Given the description of an element on the screen output the (x, y) to click on. 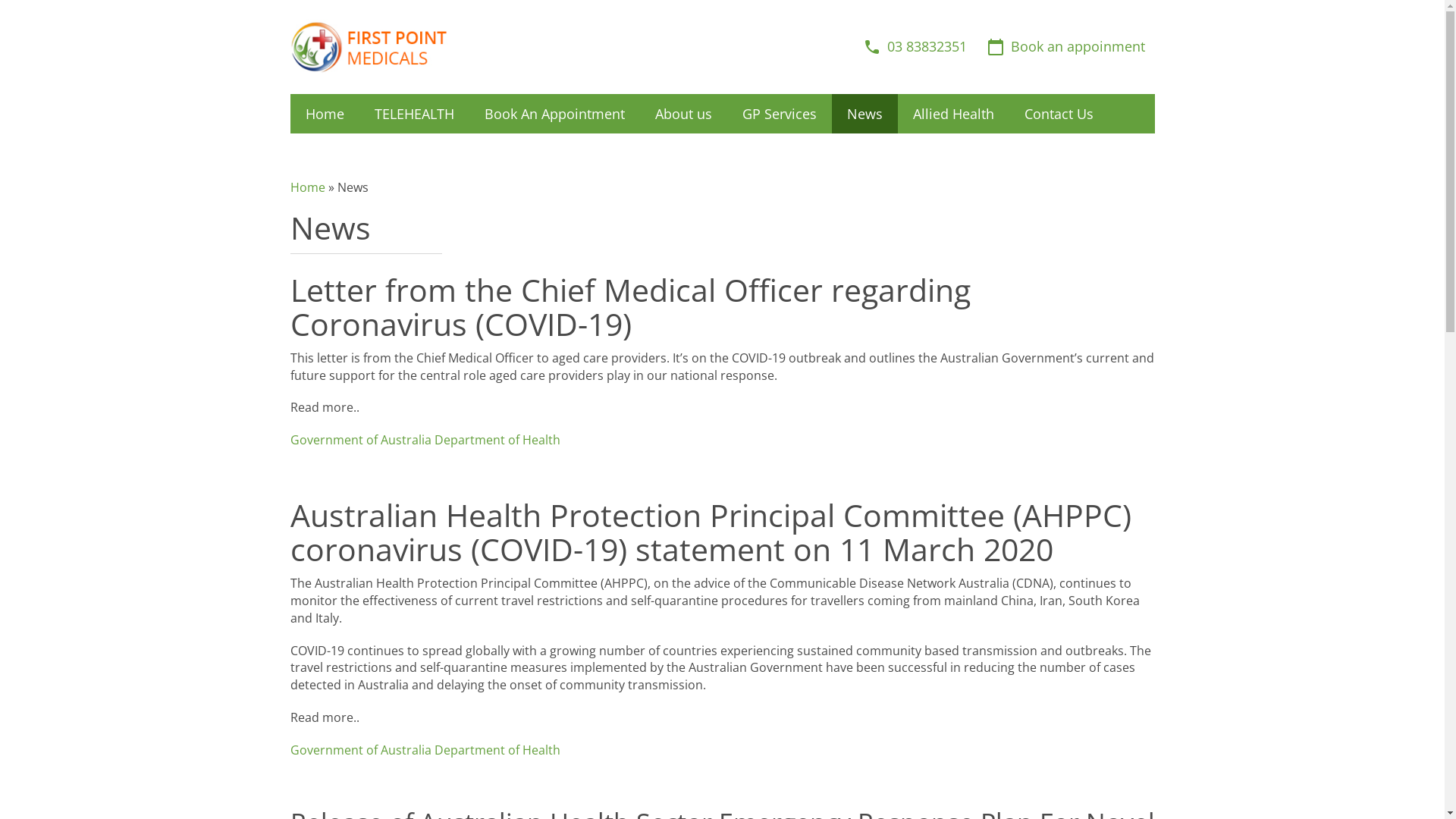
TELEHEALTH Element type: text (414, 113)
News Element type: text (864, 113)
Book an appoinment Element type: text (1065, 46)
About us Element type: text (683, 113)
03 83832351 Element type: text (913, 46)
Home Element type: text (323, 113)
Home Element type: text (306, 186)
Contact Us Element type: text (1057, 113)
Government of Australia Department of Health Element type: text (424, 439)
Allied Health Element type: text (953, 113)
Book An Appointment Element type: text (553, 113)
Government of Australia Department of Health Element type: text (424, 749)
GP Services Element type: text (778, 113)
